Given the description of an element on the screen output the (x, y) to click on. 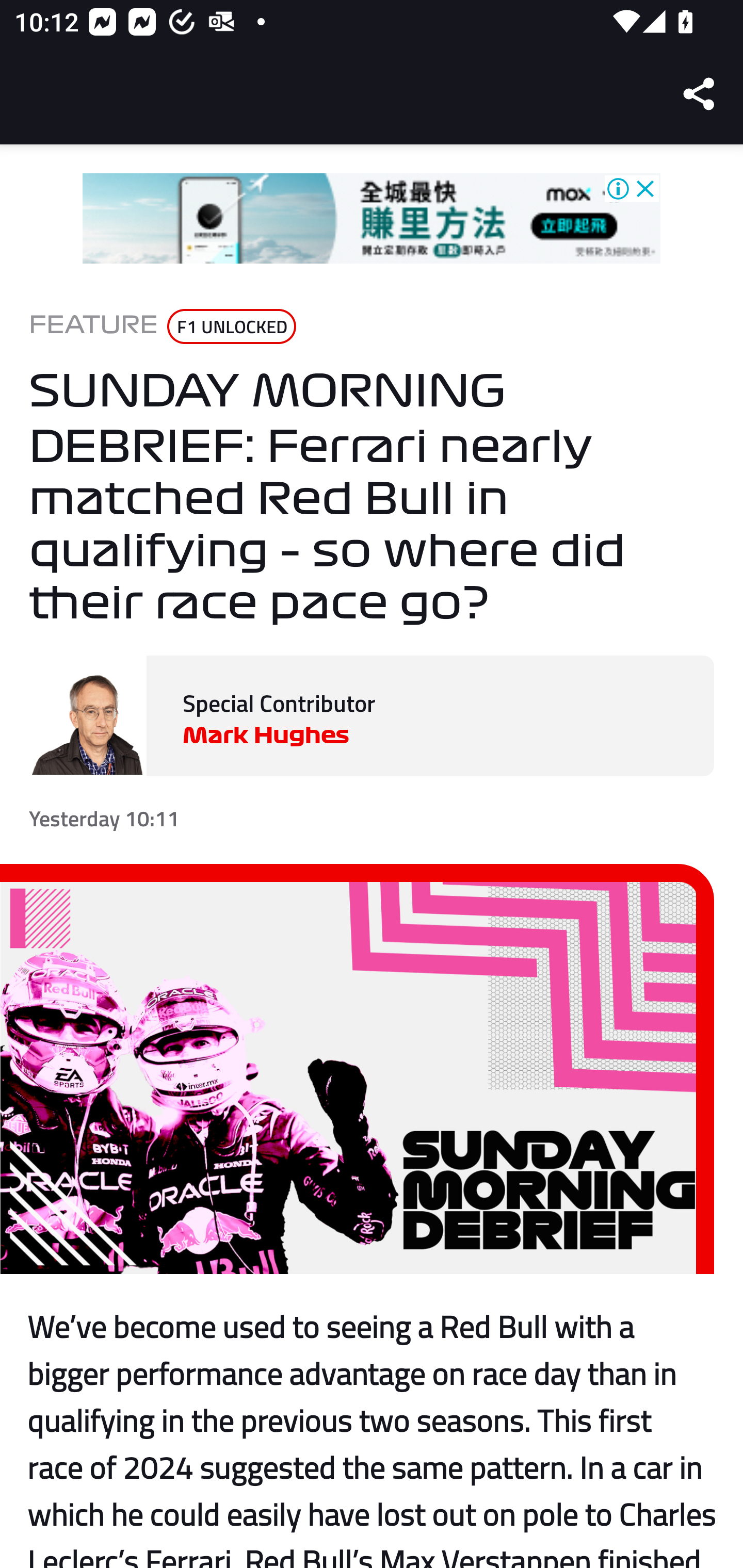
Share (699, 93)
Advertisement (371, 218)
